Given the description of an element on the screen output the (x, y) to click on. 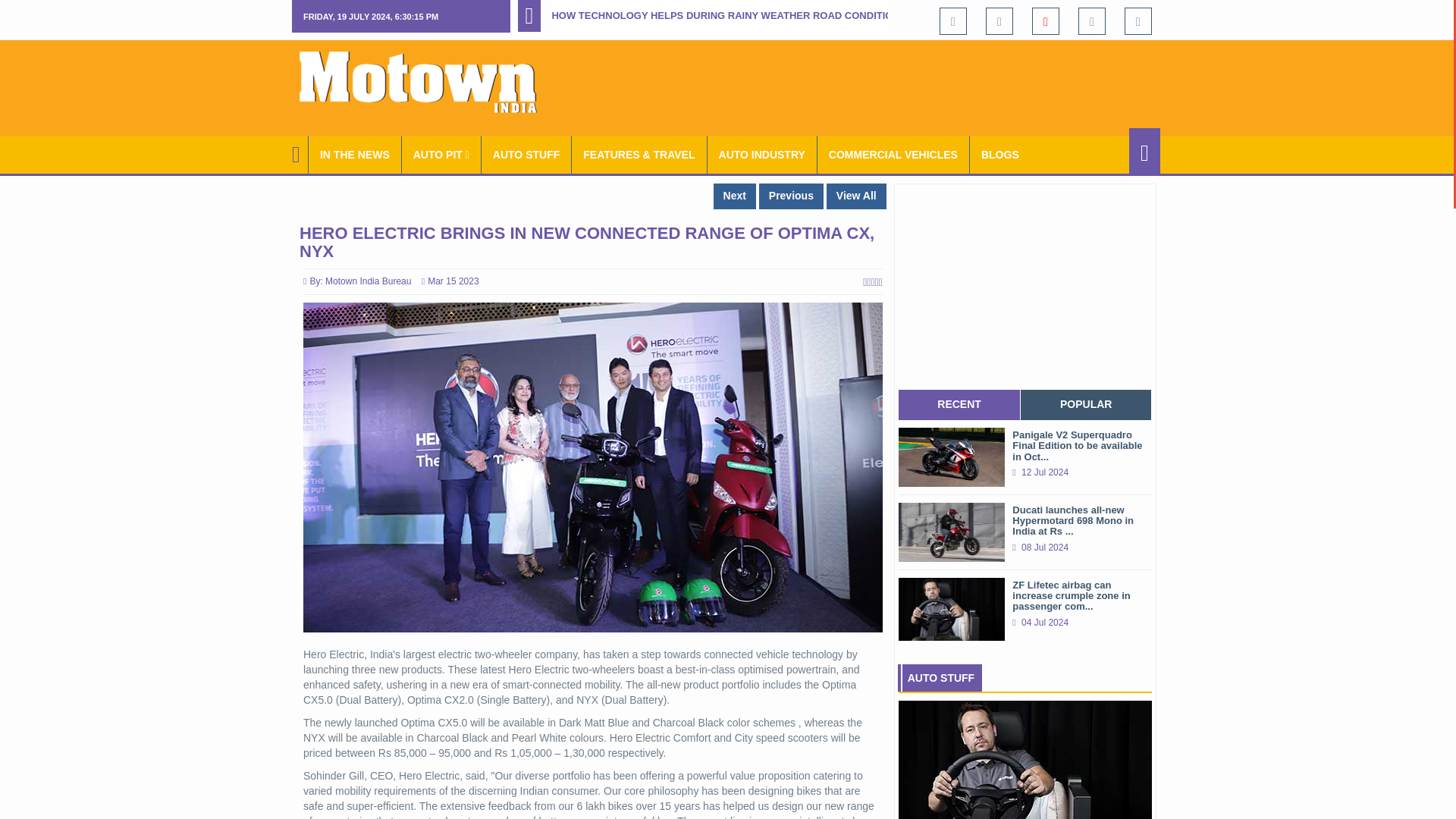
AUTO STUFF (526, 154)
AUTO INDUSTRY by Motown India (761, 154)
Motown India on Facebook (952, 19)
MotownIndia (427, 81)
HOW TECHNOLOGY HELPS DURING RAINY WEATHER ROAD CONDITIONS (728, 15)
Auto Stuff by Motown India (526, 154)
Previous (791, 196)
Motown India on LinkedIn (1137, 20)
AUTO INDUSTRY (761, 154)
Next (734, 196)
IN THE NEWS (354, 154)
View All - Motown India (856, 196)
View All (856, 196)
Motown India on YouTube (1045, 20)
View All In The News - Motown India (354, 154)
